Given the description of an element on the screen output the (x, y) to click on. 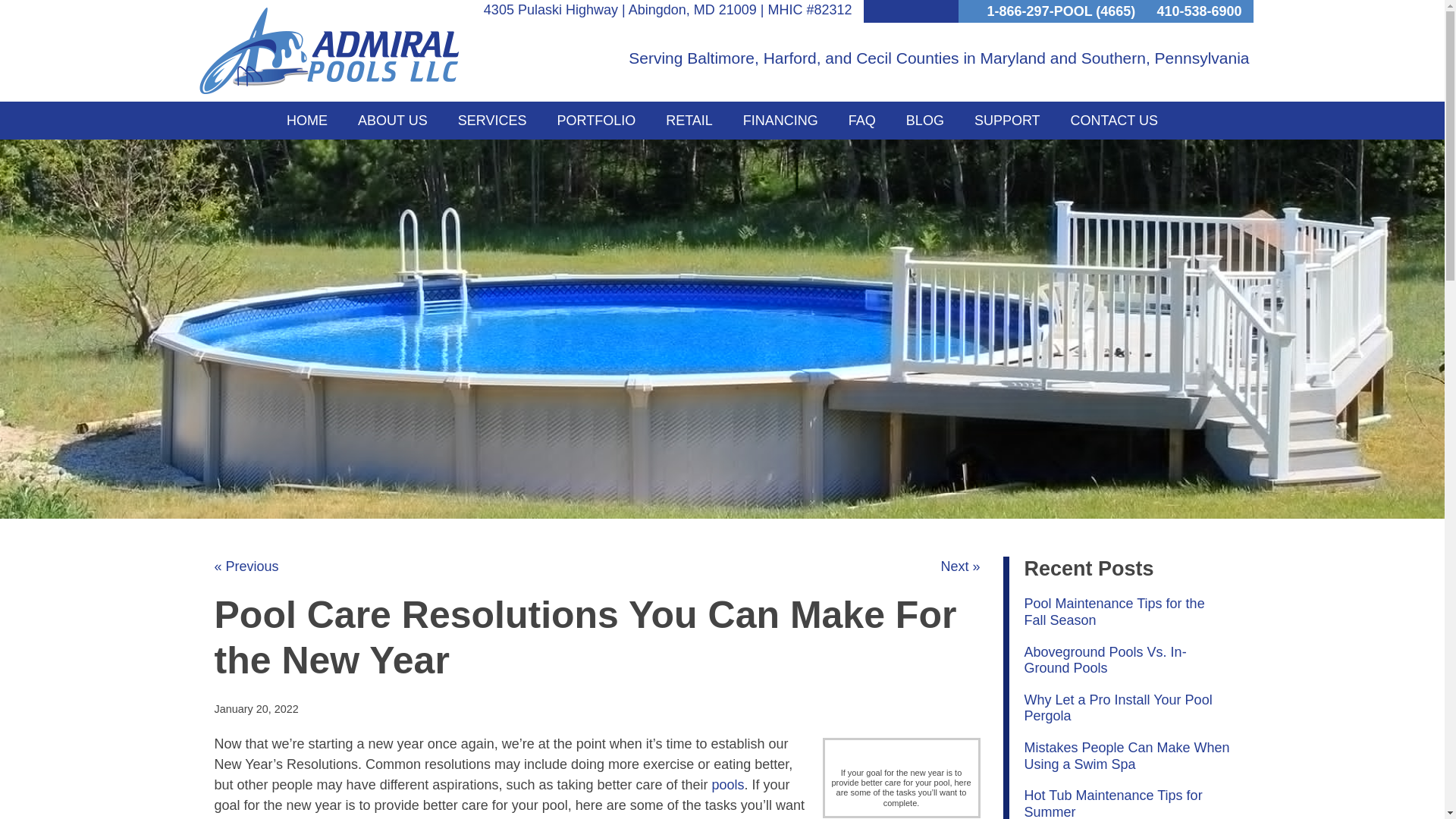
FINANCING (780, 120)
Admiral Pools LLC (328, 50)
SERVICES (491, 120)
RETAIL (689, 120)
HOME (306, 120)
ABOUT US (392, 120)
PORTFOLIO (595, 120)
FAQ (861, 120)
